Given the description of an element on the screen output the (x, y) to click on. 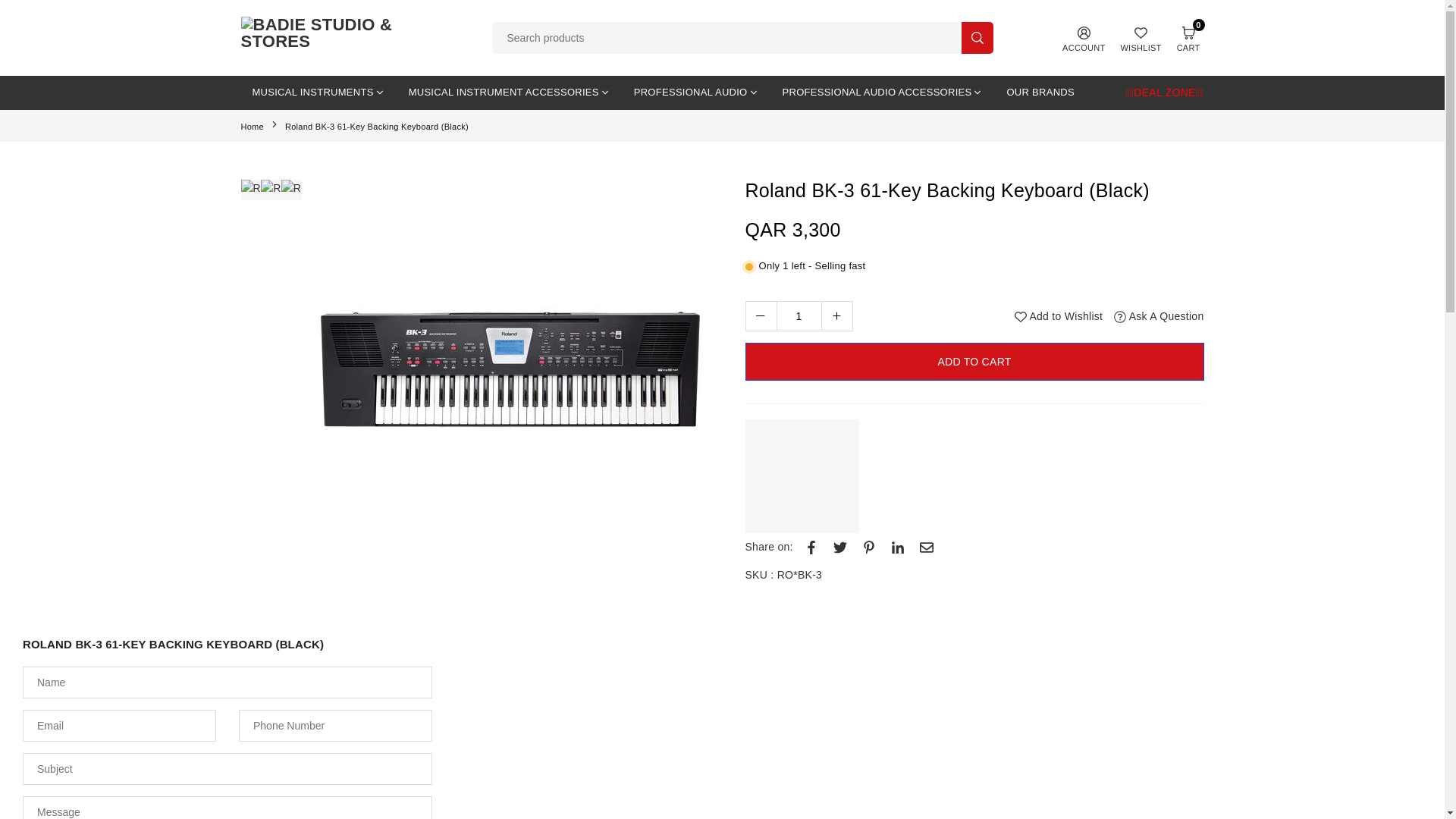
1 (799, 316)
Quantity (797, 316)
WISHLIST (1140, 37)
WISHLIST (1140, 37)
Back to the home page (253, 126)
Share on Linkedin (897, 546)
MUSICAL INSTRUMENTS (319, 92)
Tweet on Twitter (839, 546)
ACCOUNT (1083, 37)
Share by Email (926, 546)
